Given the description of an element on the screen output the (x, y) to click on. 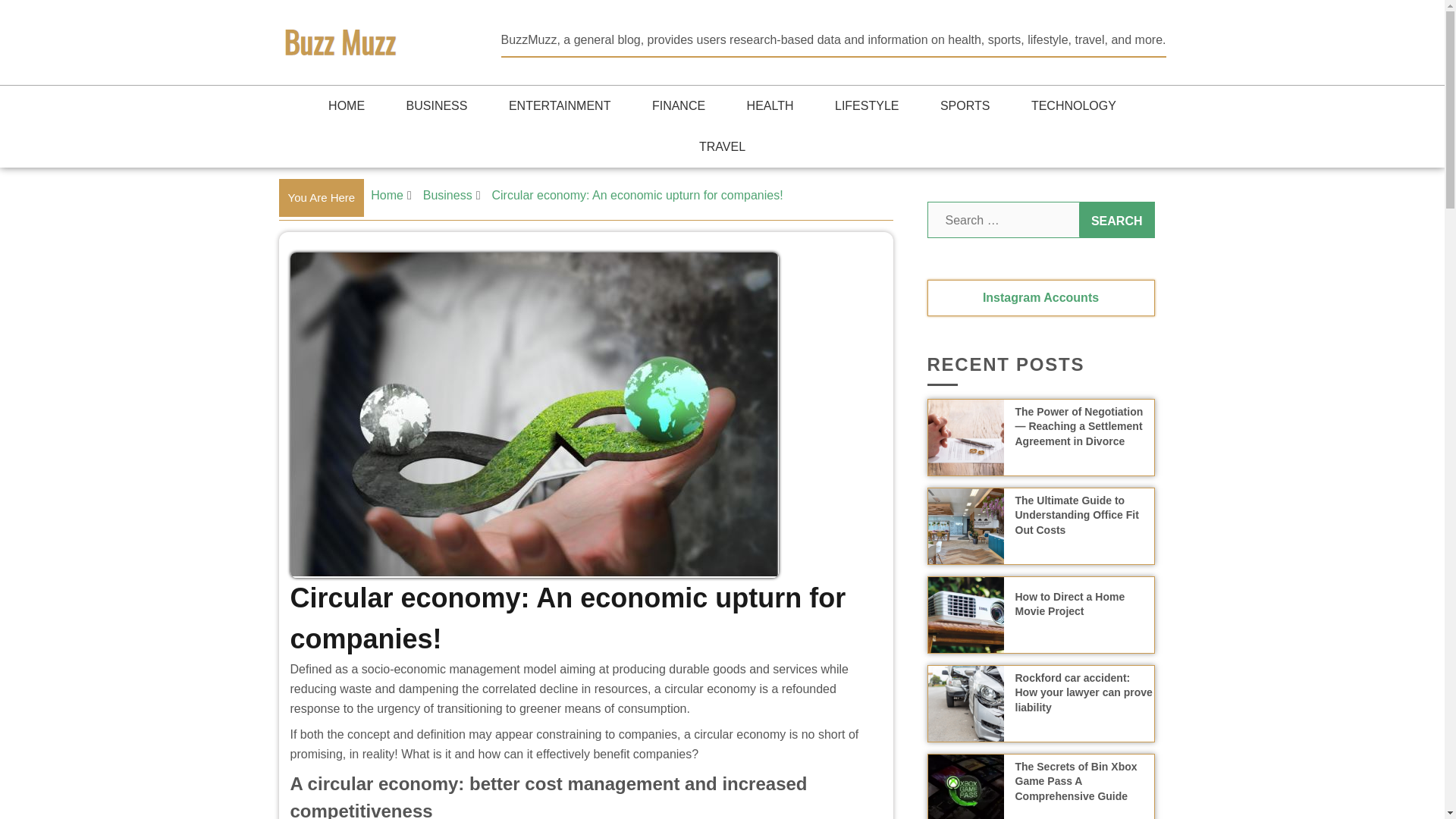
TECHNOLOGY (1073, 105)
TRAVEL (722, 146)
How to Direct a Home Movie Project (1069, 603)
SPORTS (964, 105)
FINANCE (678, 105)
Circular economy: An economic upturn for companies!  (639, 195)
ENTERTAINMENT (560, 105)
Business (447, 195)
HEALTH (770, 105)
The Ultimate Guide to Understanding Office Fit Out Costs (1076, 514)
